Given the description of an element on the screen output the (x, y) to click on. 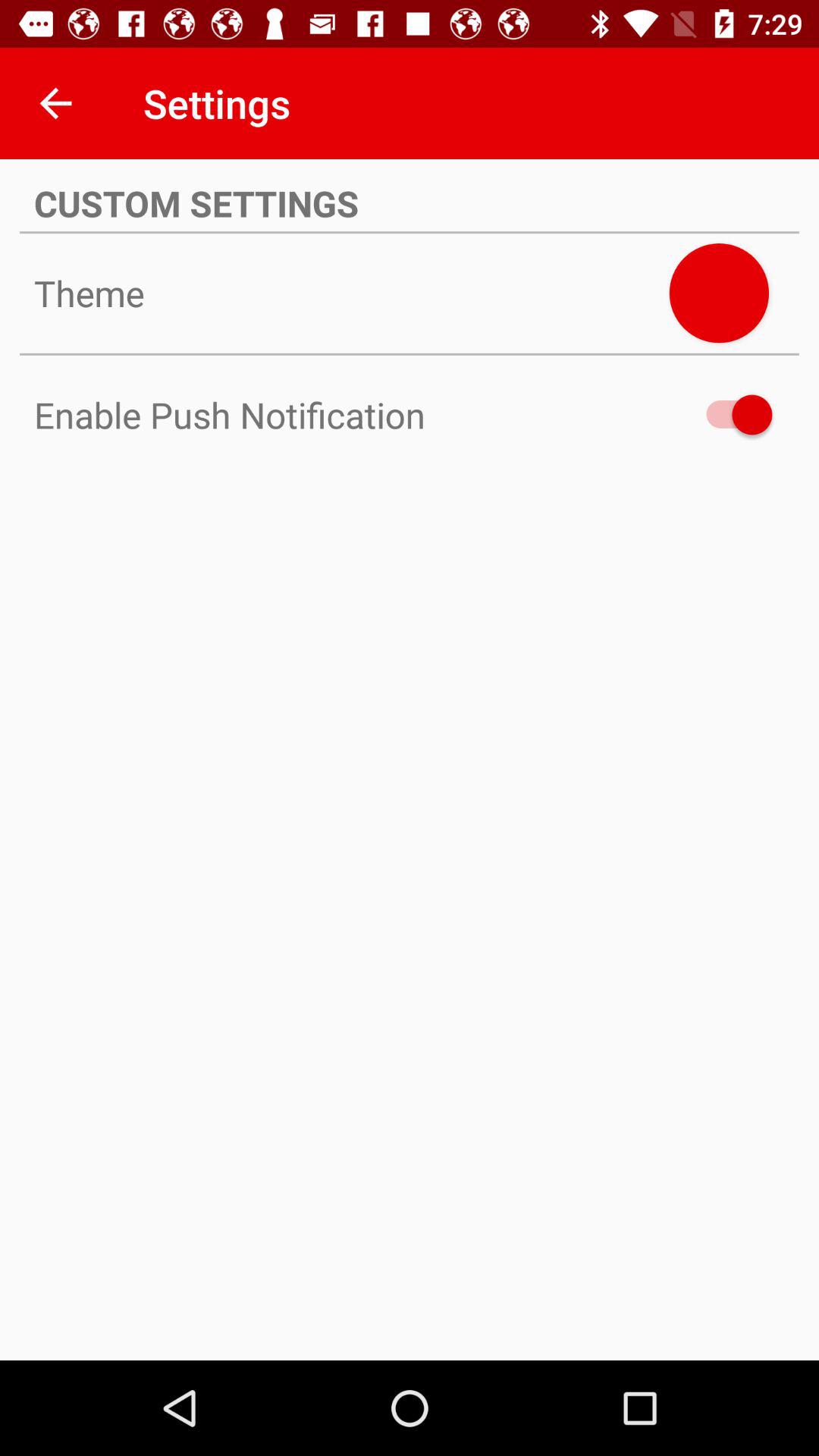
toggle push notification (731, 414)
